Given the description of an element on the screen output the (x, y) to click on. 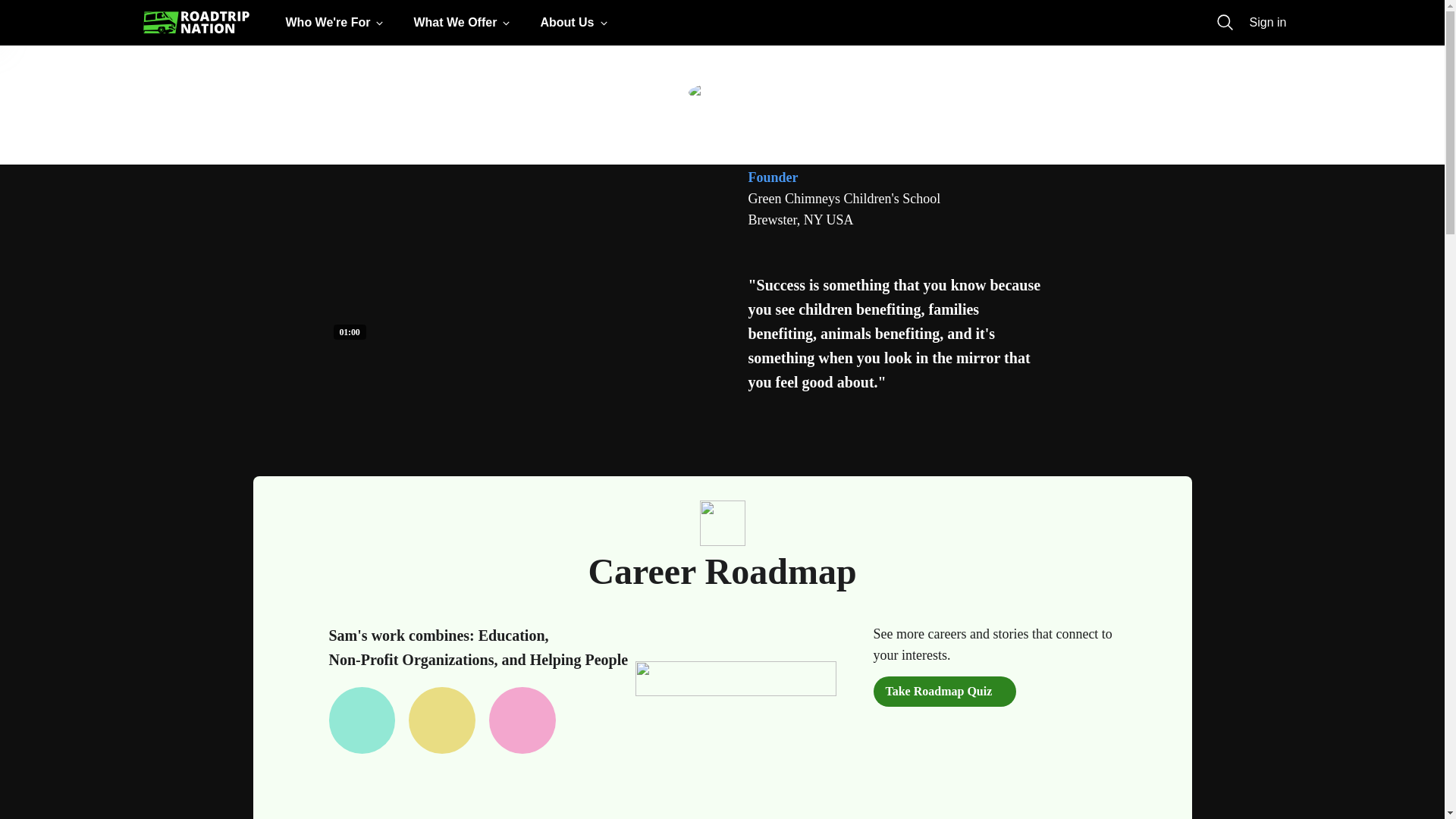
Sign in (1268, 22)
About Us (576, 22)
Take Roadmap Quiz (944, 691)
Founder (772, 177)
Search (1224, 22)
What We Offer (464, 22)
Who We're For (336, 22)
